Given the description of an element on the screen output the (x, y) to click on. 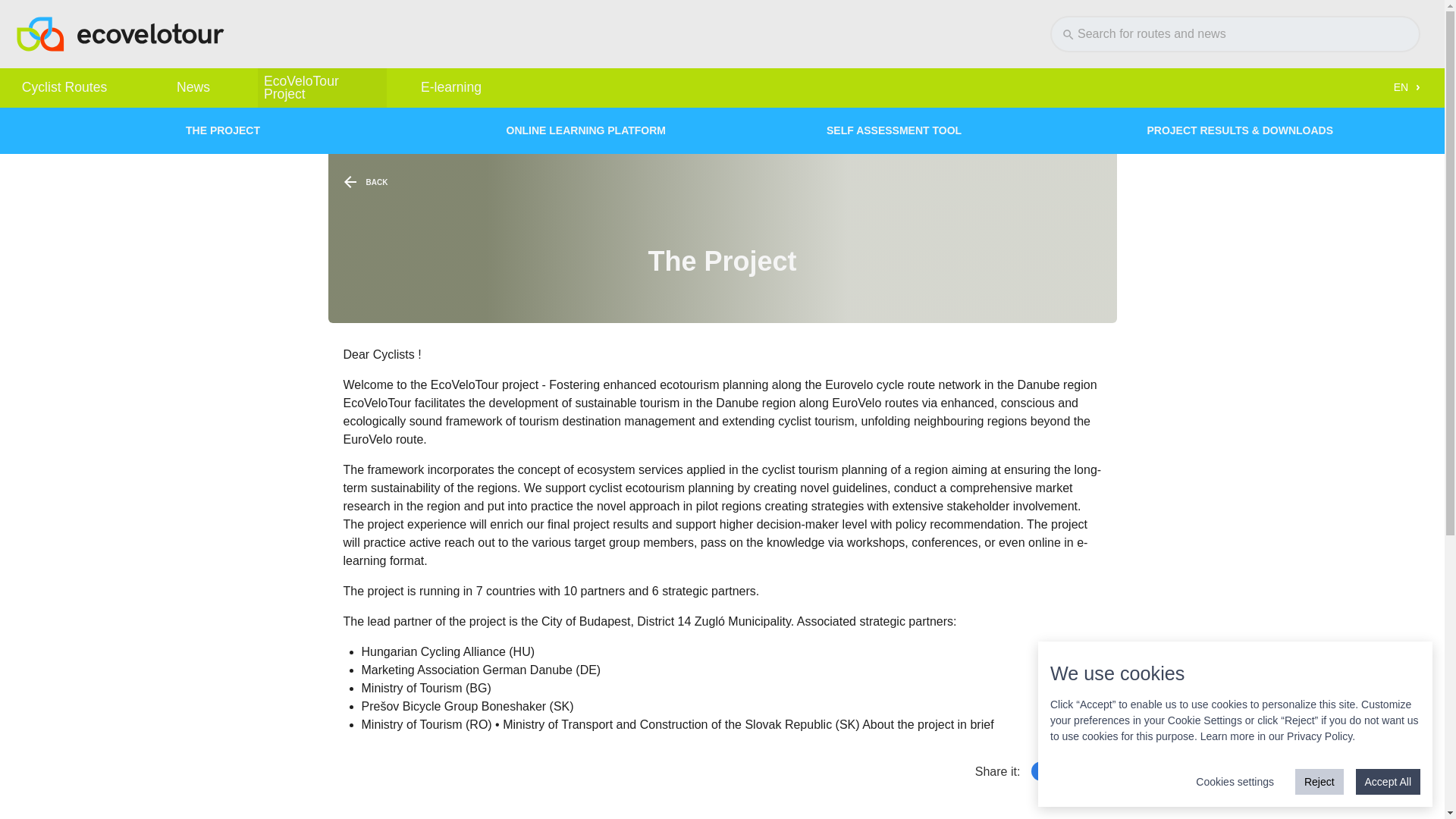
ONLINE LEARNING PLATFORM (644, 130)
BACK (368, 181)
English (1401, 87)
THE PROJECT (323, 130)
EN (1404, 88)
Privacy Policy (1319, 736)
Cyclist Routes (64, 87)
SELF ASSESSMENT TOOL (963, 130)
News (193, 87)
E-learning (451, 87)
